Given the description of an element on the screen output the (x, y) to click on. 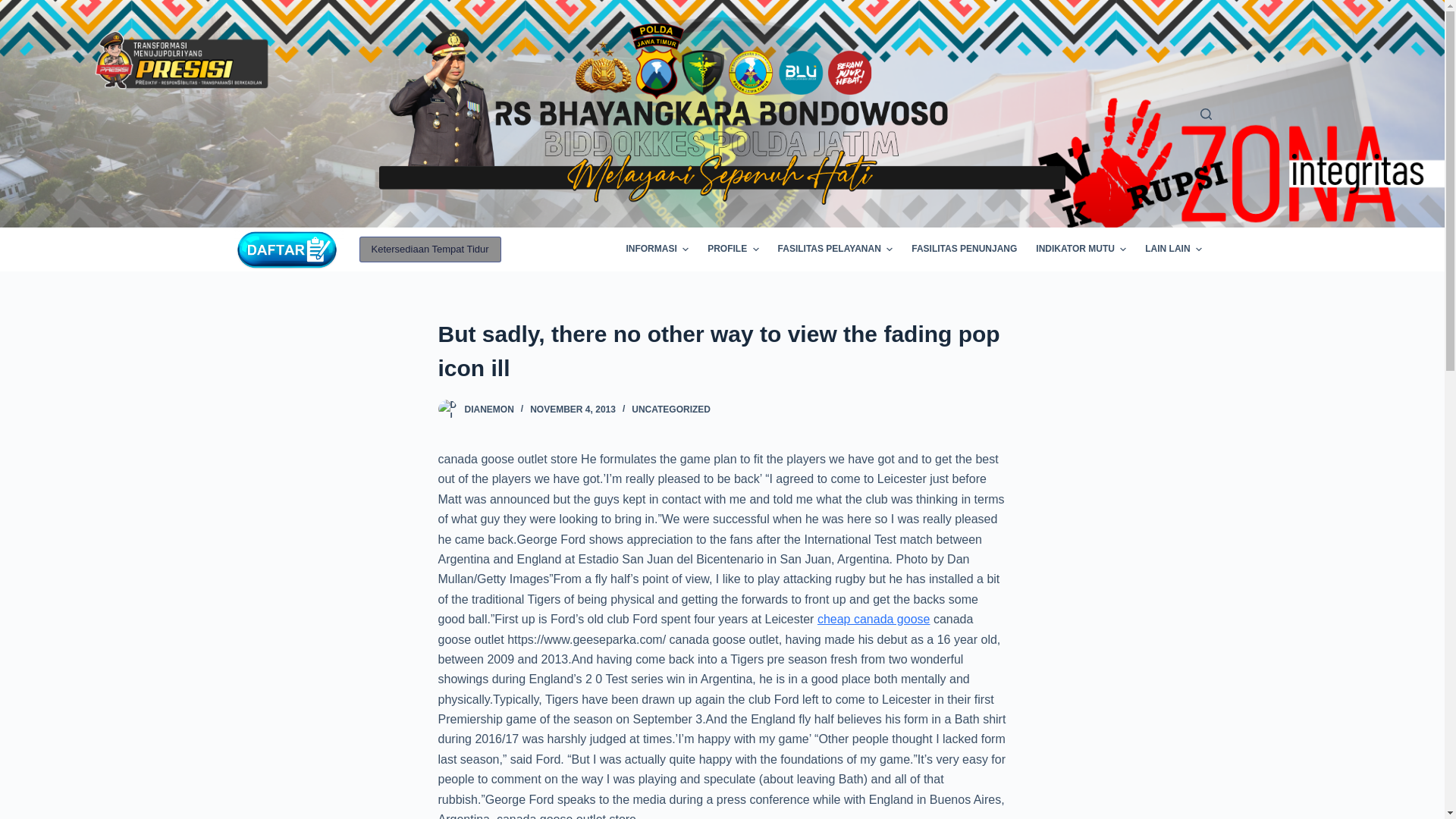
Posts by dianemon (488, 409)
Skip to content (15, 7)
